Given the description of an element on the screen output the (x, y) to click on. 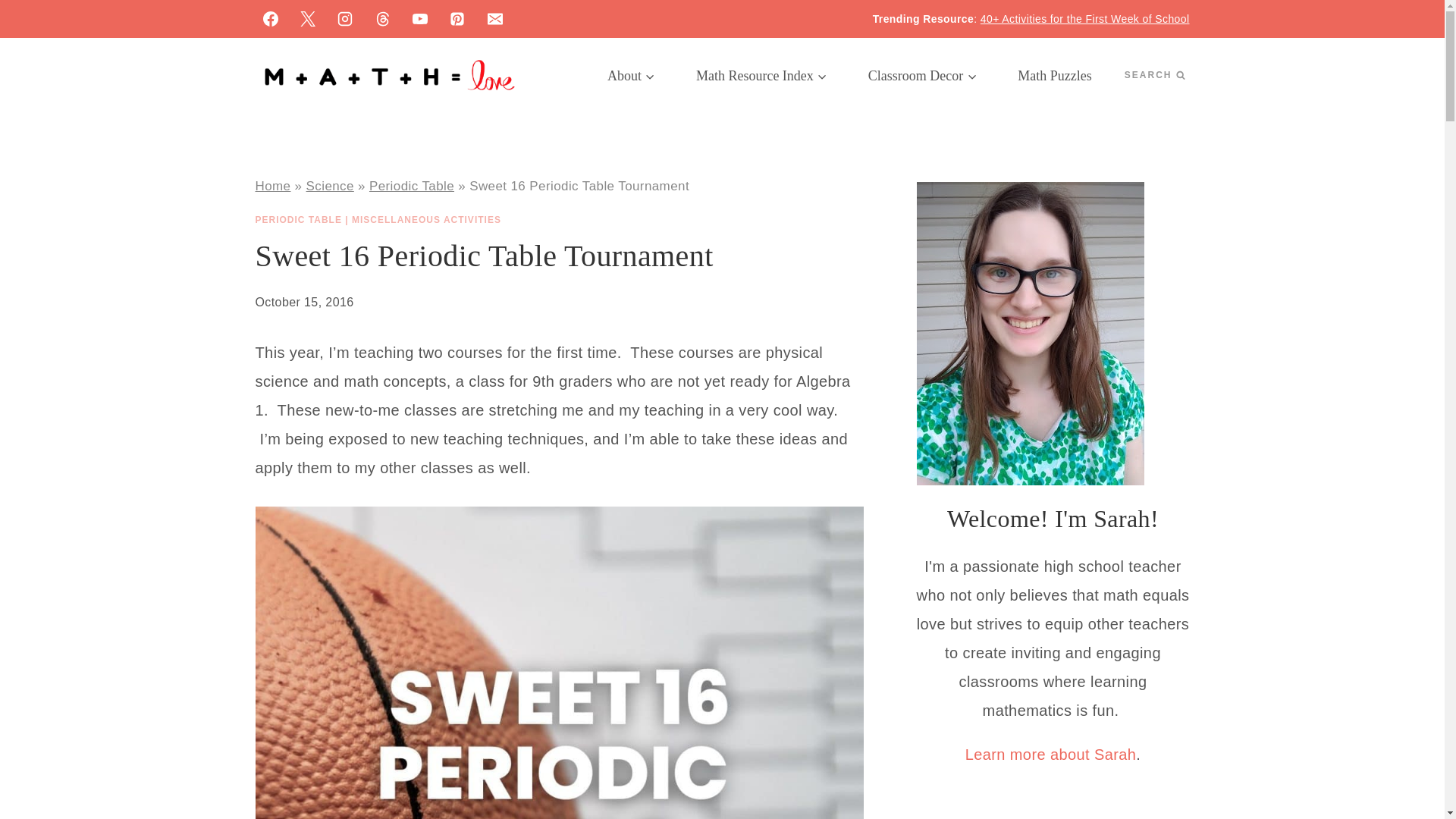
Classroom Decor (922, 75)
SEARCH (1154, 74)
Math Puzzles (1054, 75)
Periodic Table (411, 186)
MISCELLANEOUS ACTIVITIES (426, 219)
Science (329, 186)
Home (271, 186)
Math Resource Index (761, 75)
PERIODIC TABLE (297, 219)
About (630, 75)
